Given the description of an element on the screen output the (x, y) to click on. 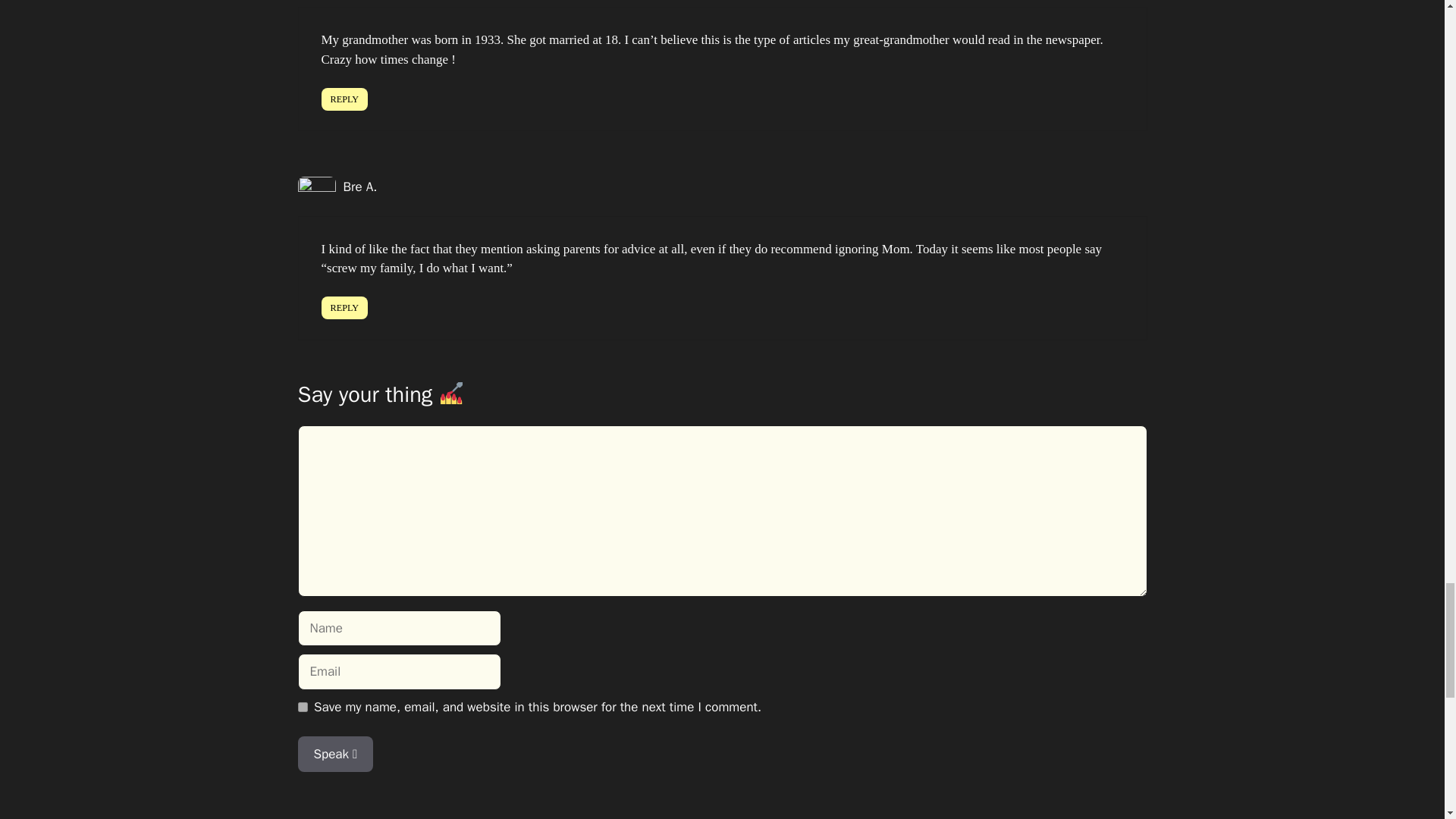
yes (302, 706)
REPLY (344, 98)
REPLY (344, 307)
